Given the description of an element on the screen output the (x, y) to click on. 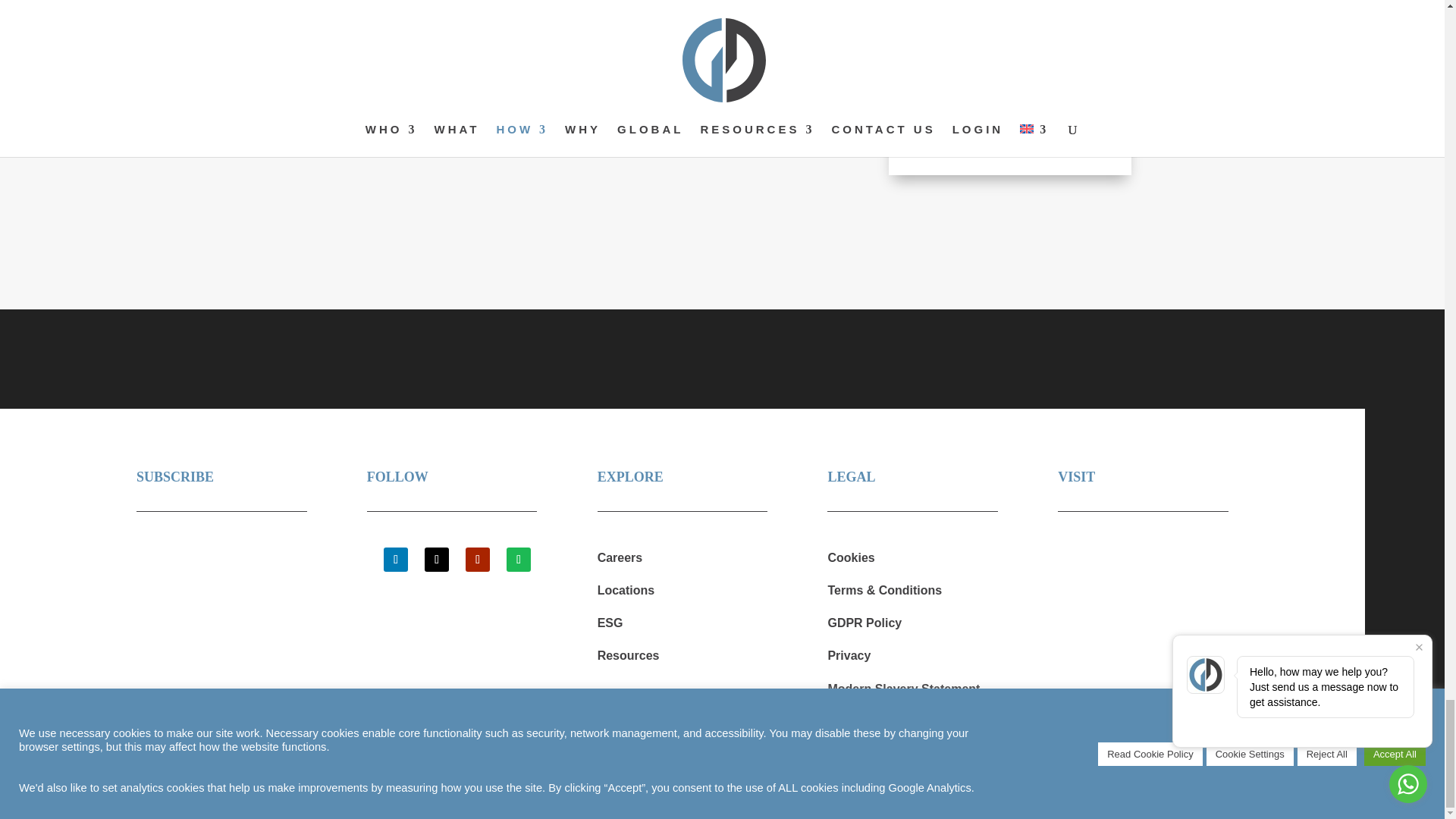
Follow on Youtube (477, 559)
Follow on X (436, 559)
Follow on LinkedIn (395, 559)
Follow on Spotify (518, 559)
